Given the description of an element on the screen output the (x, y) to click on. 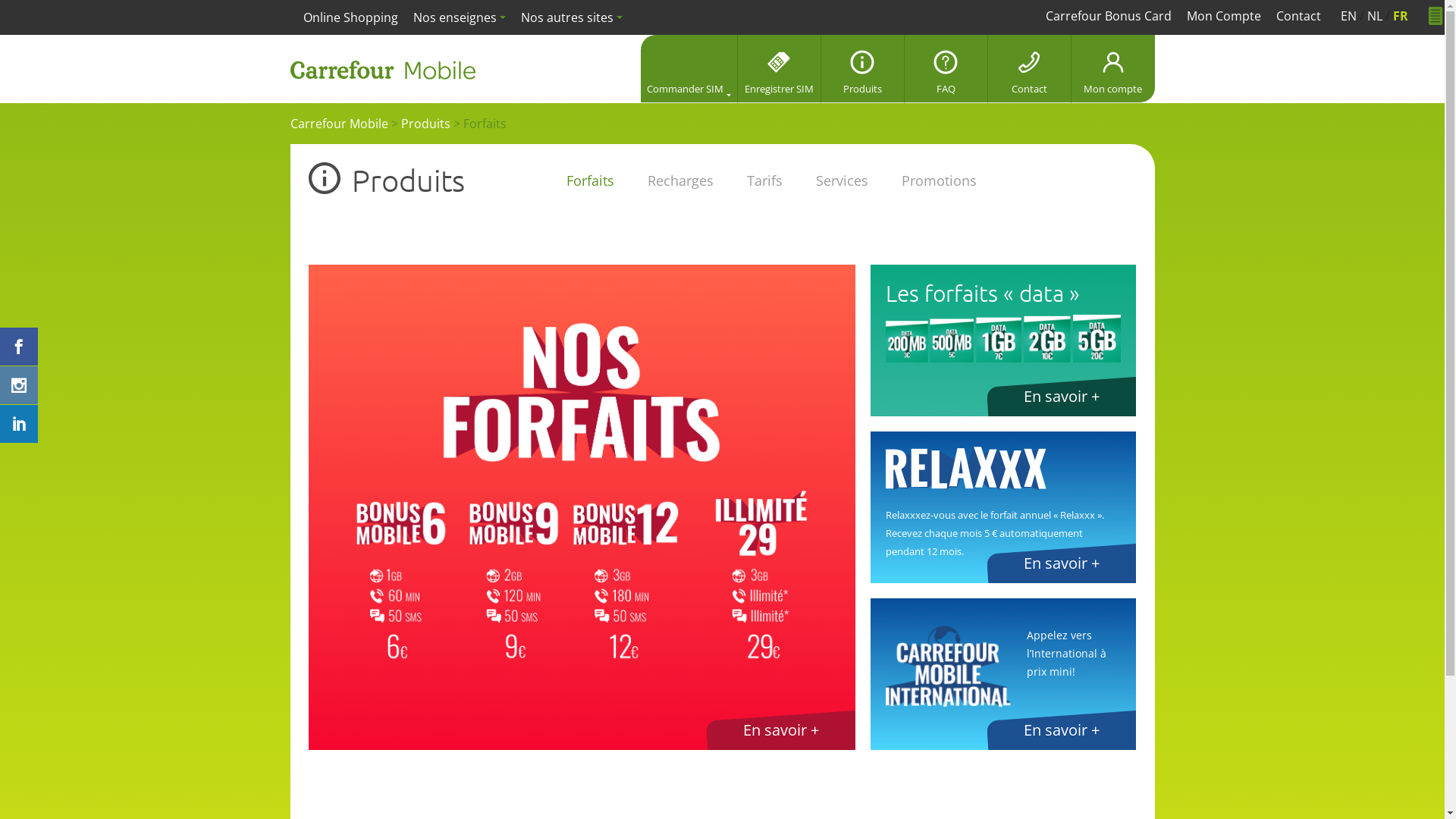
En savoir + Element type: text (780, 729)
Aller au contenu Element type: text (1443, 0)
Tarifs Element type: text (764, 180)
En savoir + Element type: text (1061, 396)
Carrefour Mobile Element type: text (338, 123)
Enregistrer SIM Element type: text (778, 68)
Mon compte Element type: text (1112, 68)
Recharges Element type: text (680, 180)
En savoir + Element type: text (1061, 729)
FR Element type: text (1400, 15)
Nos enseignes Element type: text (458, 17)
EN Element type: text (1348, 15)
Forfaits Element type: text (590, 180)
Promotions Element type: text (938, 180)
En savoir + Element type: text (1061, 563)
Nos autres sites Element type: text (571, 17)
Online Shopping Element type: text (350, 17)
Commander SIM Element type: text (688, 68)
Produits Element type: text (861, 68)
FAQ Element type: text (945, 68)
Produits Element type: text (424, 123)
Services Element type: text (841, 180)
NL Element type: text (1374, 15)
Contact Element type: text (1028, 68)
